Given the description of an element on the screen output the (x, y) to click on. 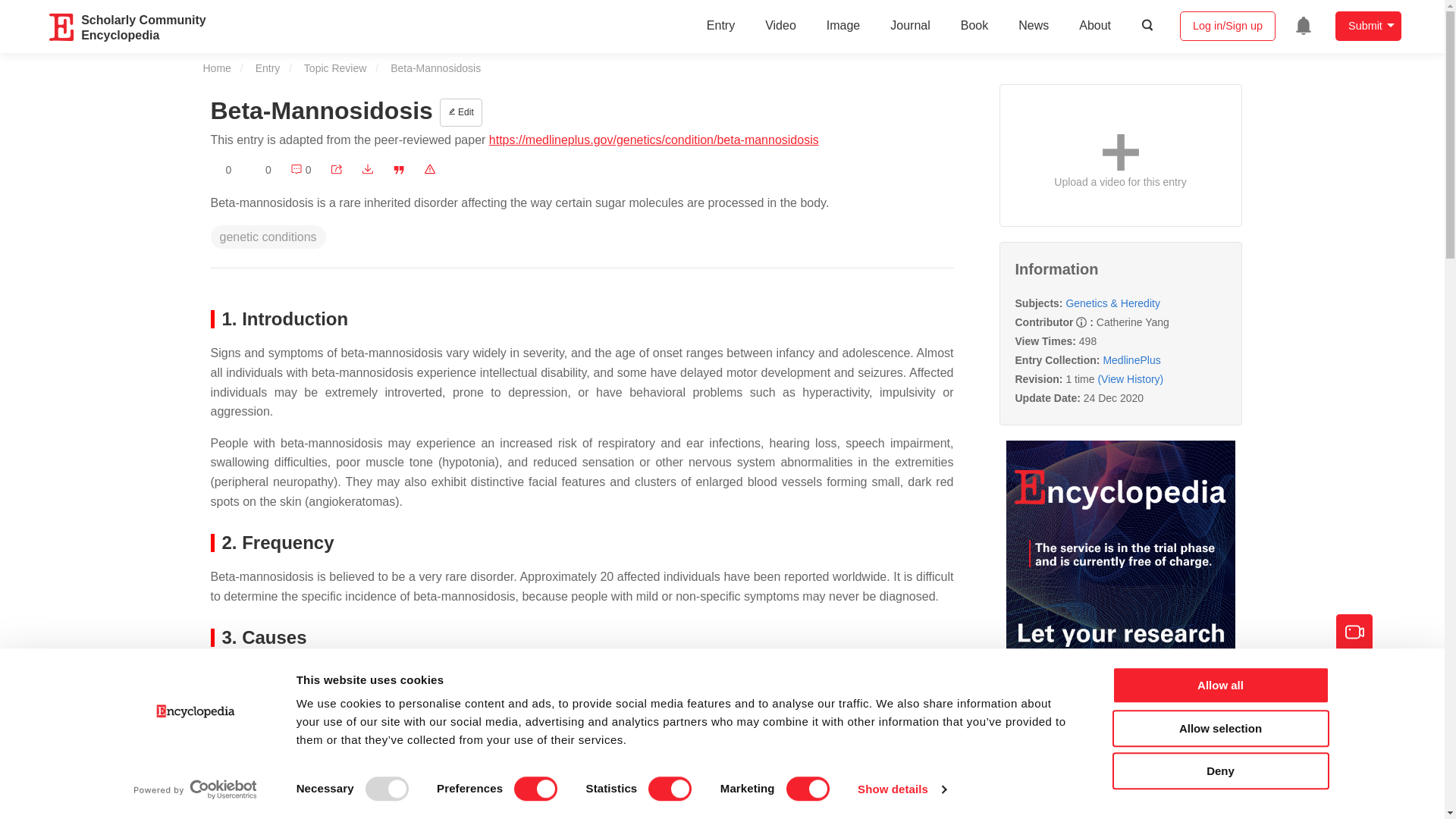
Deny (1219, 770)
Favorite (221, 169)
Edit (460, 112)
Cite (398, 169)
Share (336, 169)
Comment (300, 169)
Download as PDF (367, 169)
Like (260, 169)
Report (429, 169)
Encyclopedia (62, 27)
Show details (900, 789)
